Given the description of an element on the screen output the (x, y) to click on. 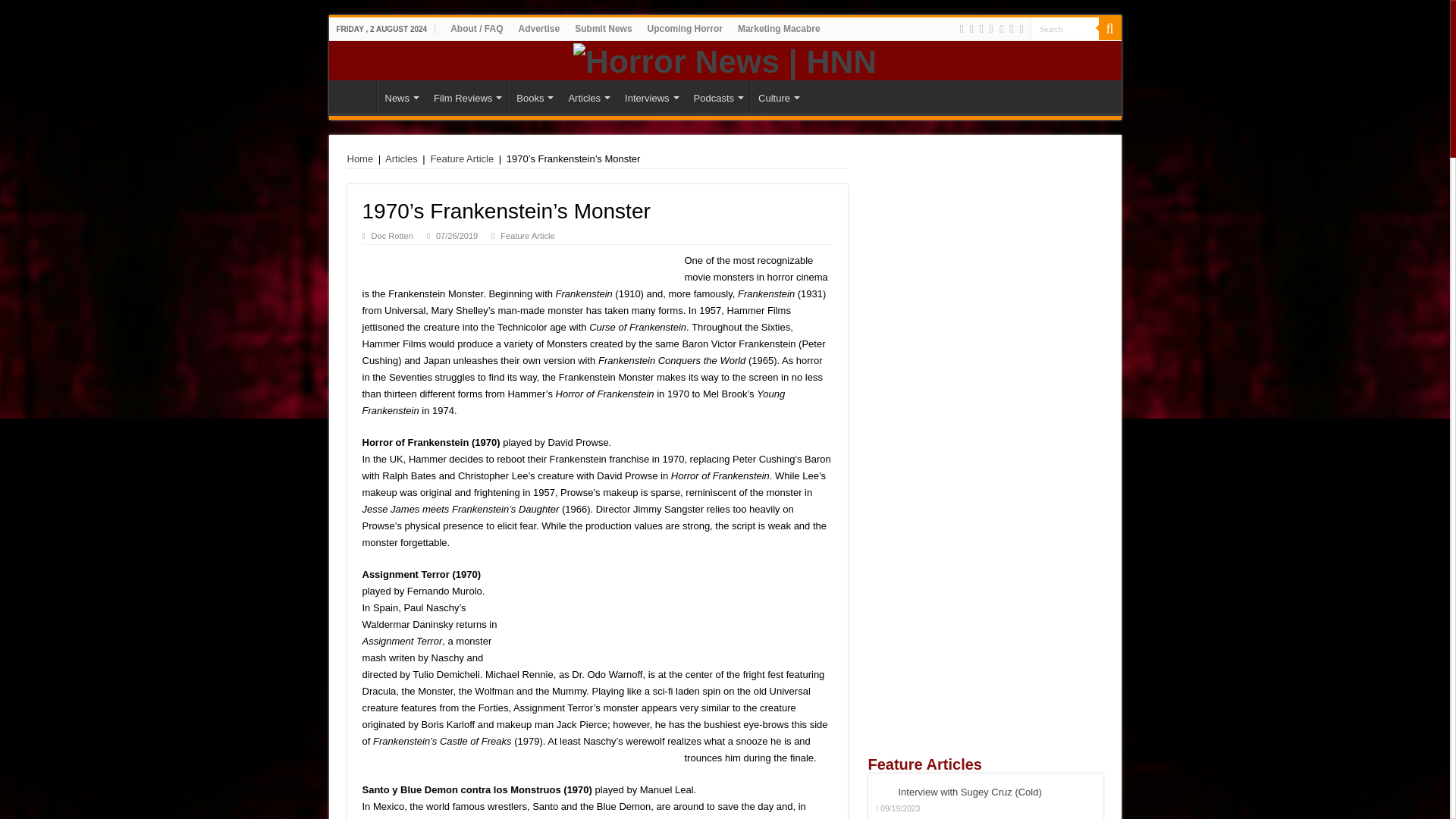
Upcoming Horror (685, 28)
Search (1063, 28)
Advertise (539, 28)
Search (1109, 28)
HOME (355, 96)
Marketing Macabre (779, 28)
Submit News (603, 28)
Submit News to Horrornews.net (603, 28)
Search (1063, 28)
Search (1063, 28)
Advertise on HorrorNews.net (539, 28)
Film Reviews (465, 96)
News (400, 96)
